Given the description of an element on the screen output the (x, y) to click on. 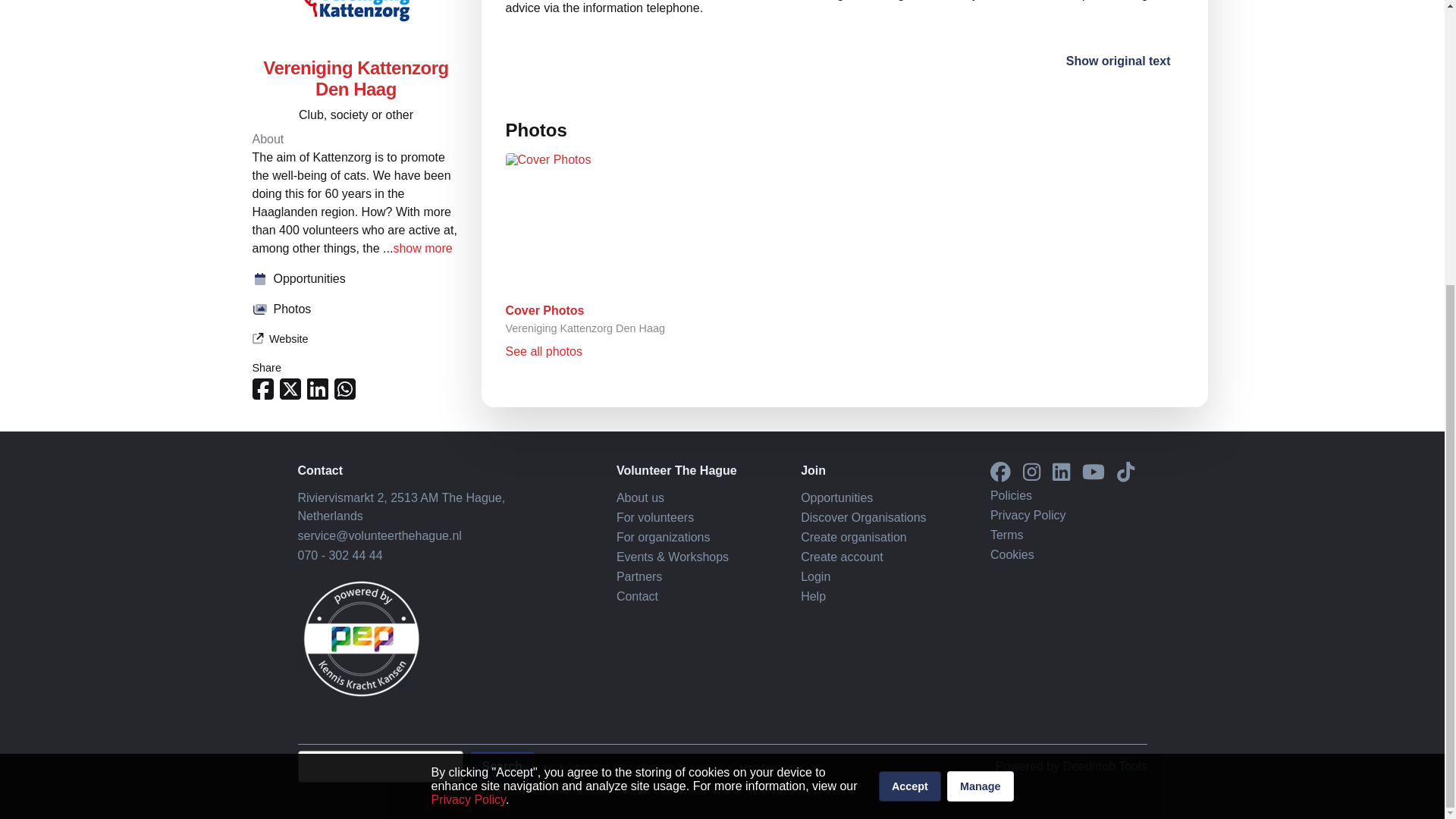
Volunteer The Hague Youtube (1093, 473)
Cover Photos (544, 309)
070 - 302 44 44 (339, 554)
Show original text (1117, 60)
Riviervismarkt 2, 2513 AM The Hague, Netherlands (401, 506)
Photos (355, 18)
See all photos (542, 350)
Website (279, 48)
